Given the description of an element on the screen output the (x, y) to click on. 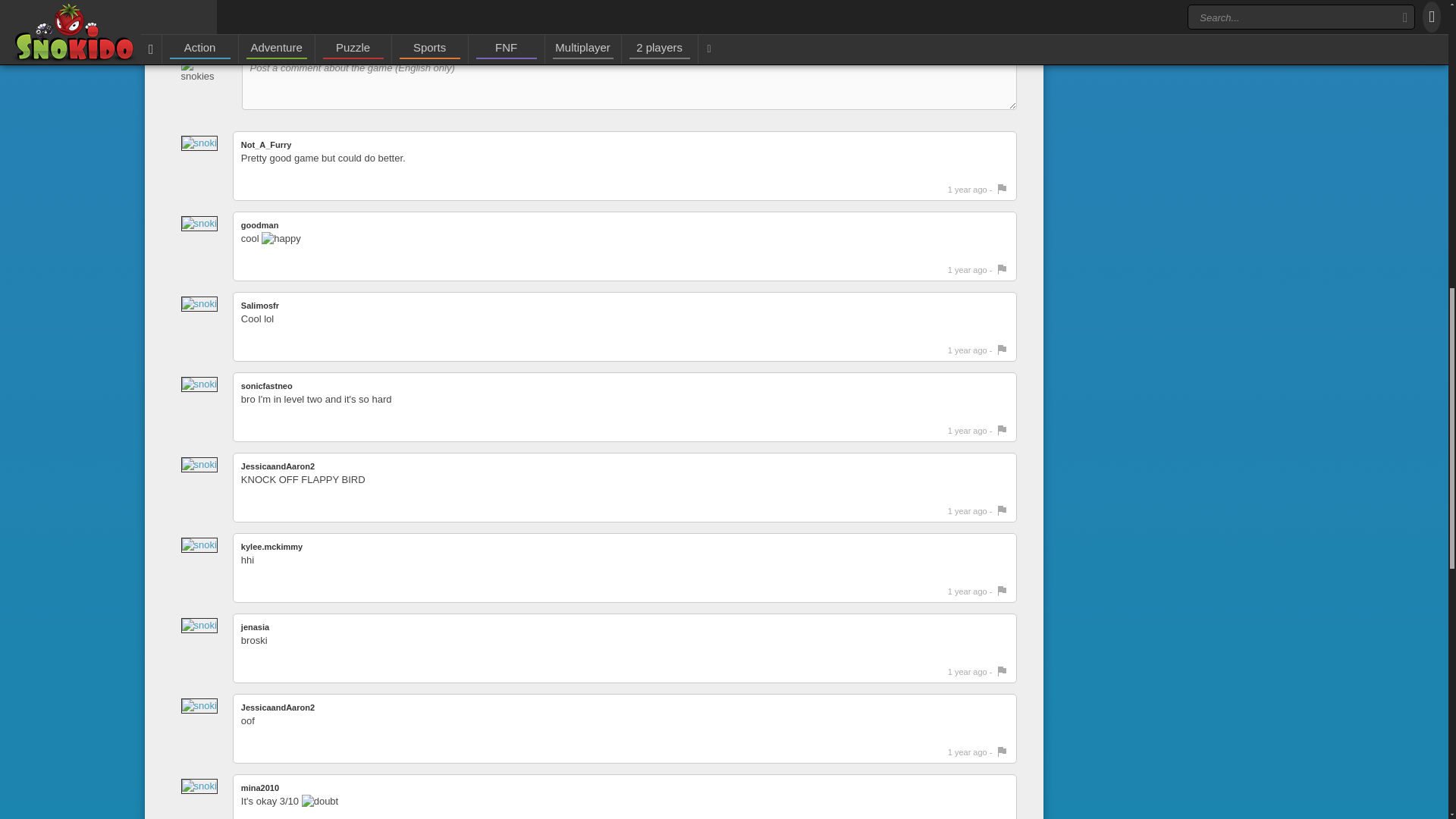
mina2010 (260, 787)
Salimosfr (260, 305)
JessicaandAaron2 (277, 465)
goodman (260, 225)
jenasia (255, 626)
sonicfastneo (266, 385)
JessicaandAaron2 (277, 706)
kylee.mckimmy (271, 546)
